Given the description of an element on the screen output the (x, y) to click on. 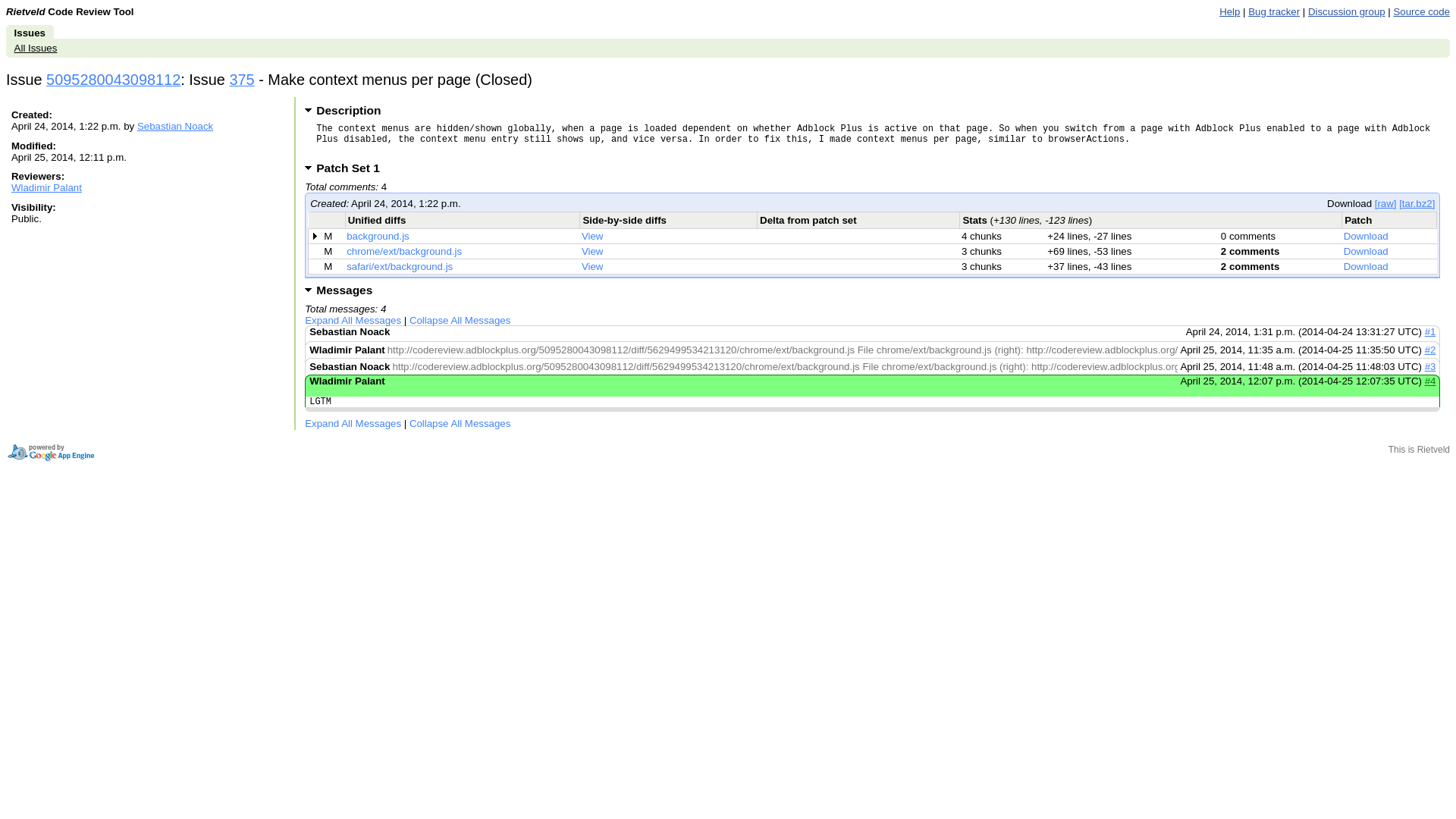
5095280043098112 (113, 79)
Bug tracker (1273, 11)
Messages (338, 289)
Wladimir Palant (46, 187)
View (592, 266)
Patchset in text format (1385, 203)
Expand All Messages (352, 423)
Sebastian Noack (174, 125)
Download (1366, 235)
Issues (29, 31)
Download (1366, 266)
Download patch for background.js (1366, 235)
Collapse All Messages (460, 319)
Collapse All Messages (460, 423)
Tarball containing the original and patched files (1416, 203)
